Given the description of an element on the screen output the (x, y) to click on. 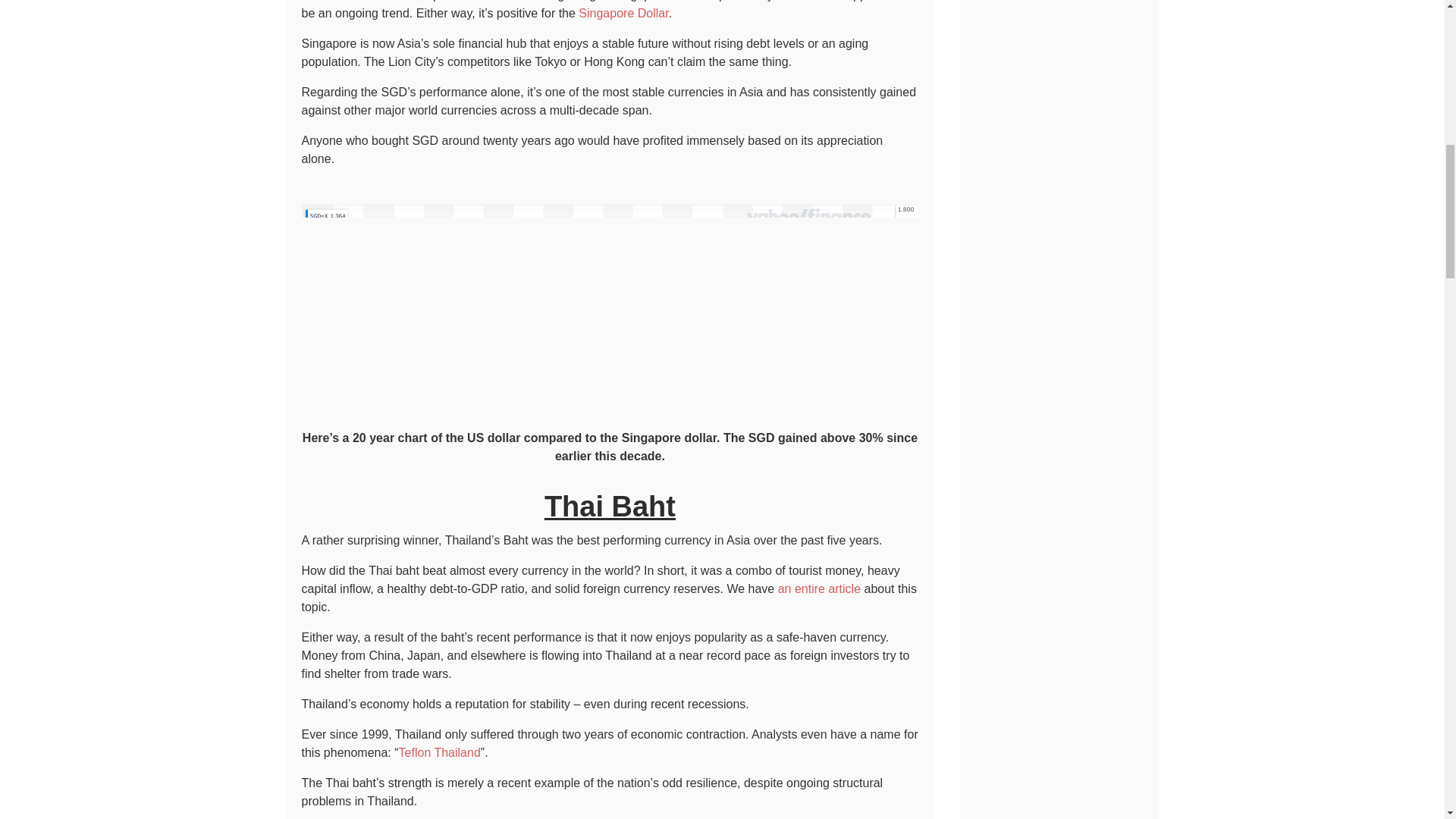
USDSGD-20Year (609, 310)
an entire article (818, 588)
Singapore Dollar (623, 12)
Teflon Thailand (439, 752)
